Given the description of an element on the screen output the (x, y) to click on. 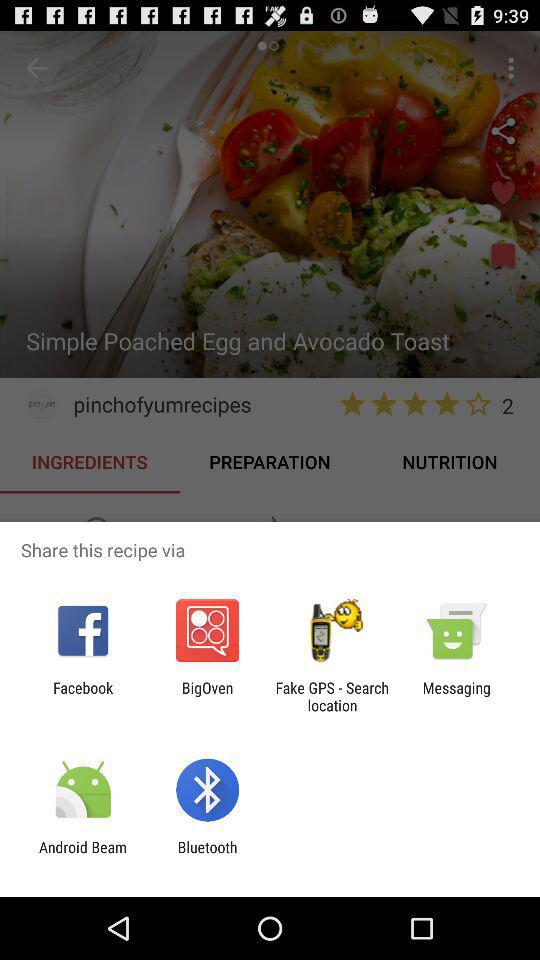
click the fake gps search icon (332, 696)
